Given the description of an element on the screen output the (x, y) to click on. 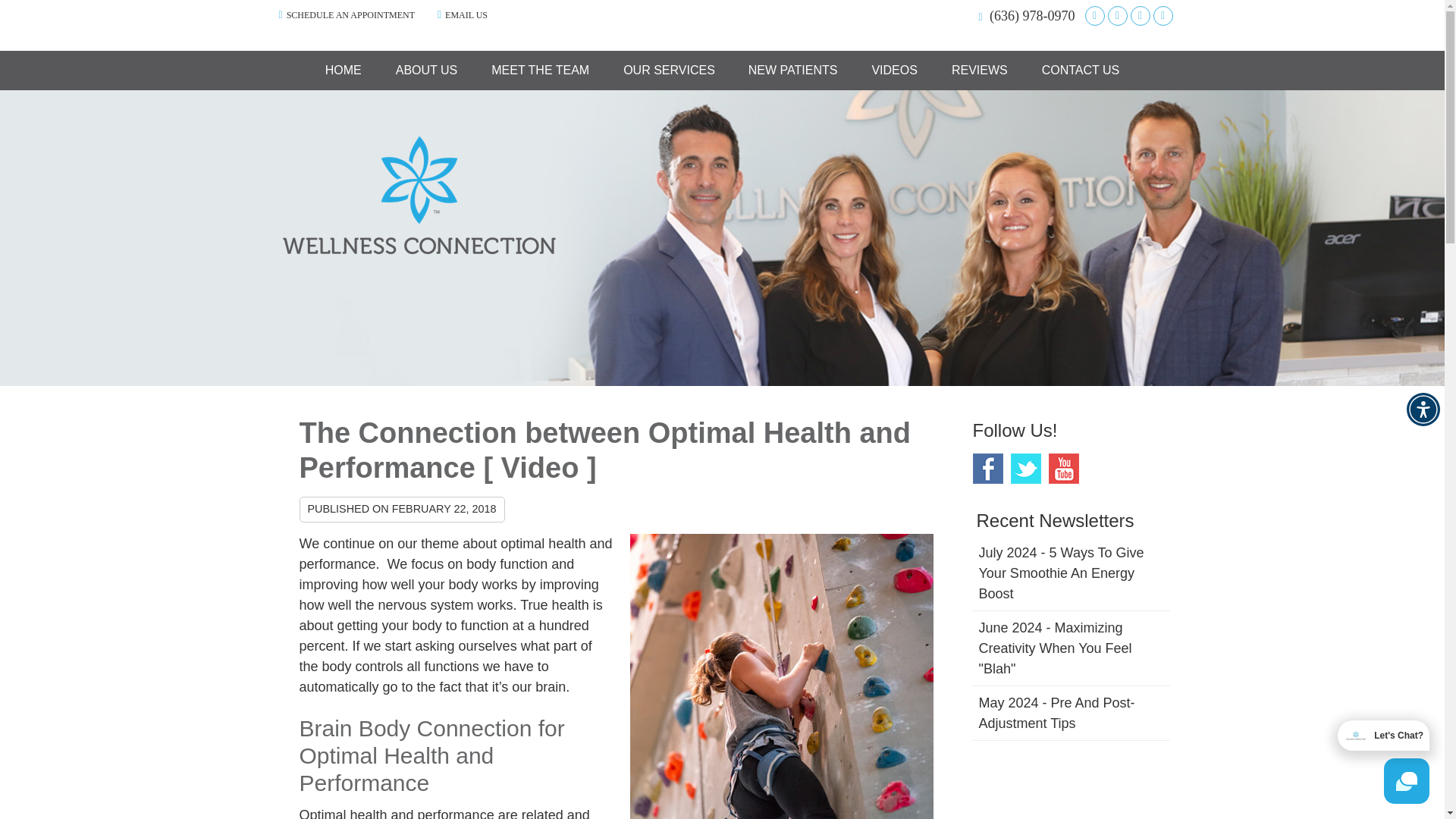
OUR SERVICES (669, 70)
Youtube Social Button (1161, 14)
Accessibility Menu (1422, 409)
Instagram Social Button (1138, 14)
MEET THE TEAM (540, 70)
Recent Newlsetters List (1070, 639)
ABOUT US (427, 70)
Facebook Social Button (1115, 14)
Google Social Button (1093, 14)
HOME (343, 70)
